Given the description of an element on the screen output the (x, y) to click on. 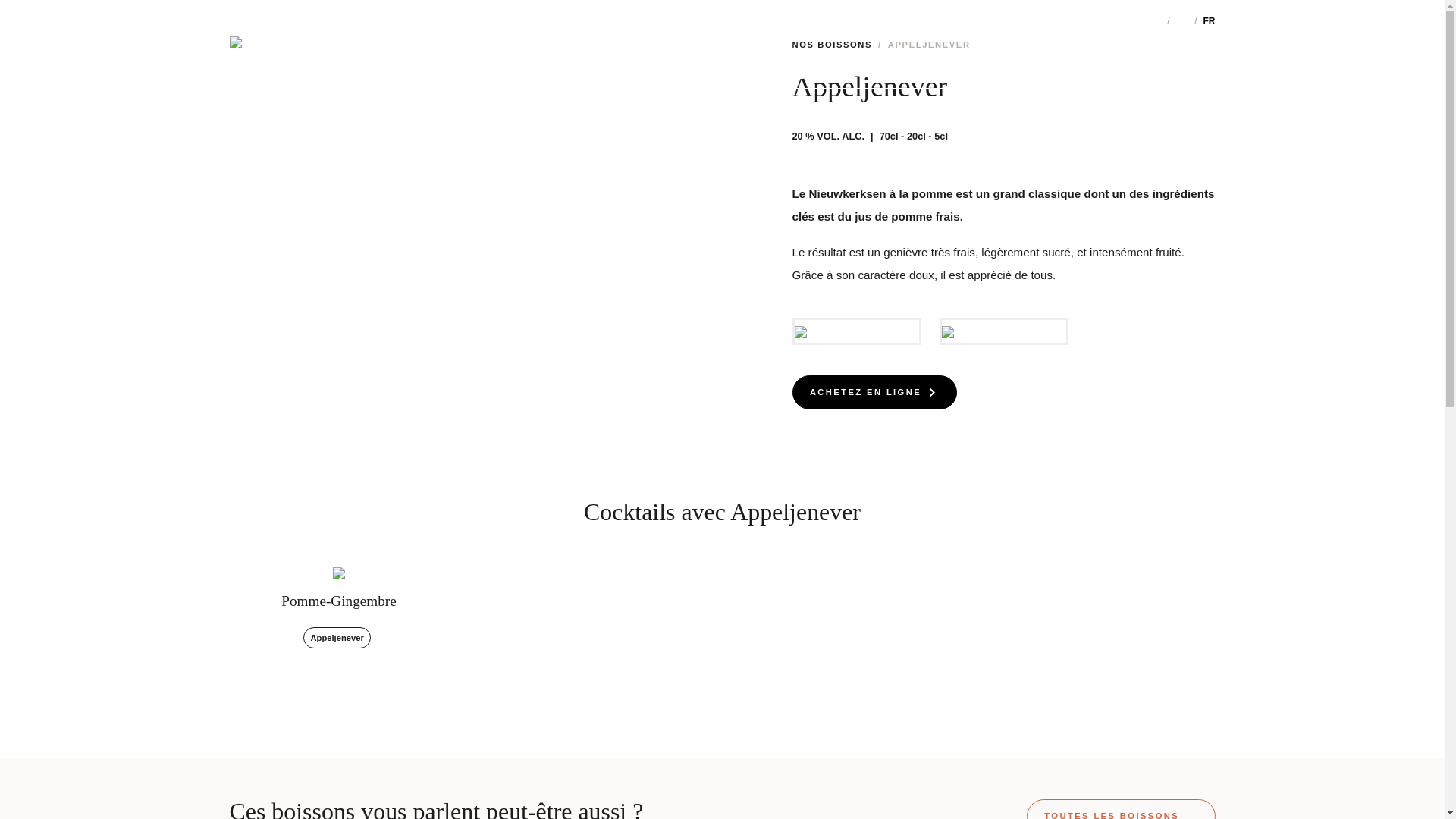
ACHETEZ EN LIGNE Element type: text (874, 392)
EN Element type: text (1181, 20)
POINTS DE VENTE Element type: text (1014, 67)
Pomme-Gingembre Element type: text (338, 600)
COCKTAILS Element type: text (449, 67)
NL Element type: text (1155, 20)
CONTACT Element type: text (1180, 67)
WEBSHOP Element type: text (1107, 67)
NOS BOISSONS Element type: text (831, 44)
NOS BOISSONS Element type: text (278, 67)
FR Element type: text (1208, 20)
DISTILLERIE Element type: text (369, 67)
BROUWERIJ
  VERHOFSTEDE
Stokerij - Distillerie Element type: text (722, 68)
